Given the description of an element on the screen output the (x, y) to click on. 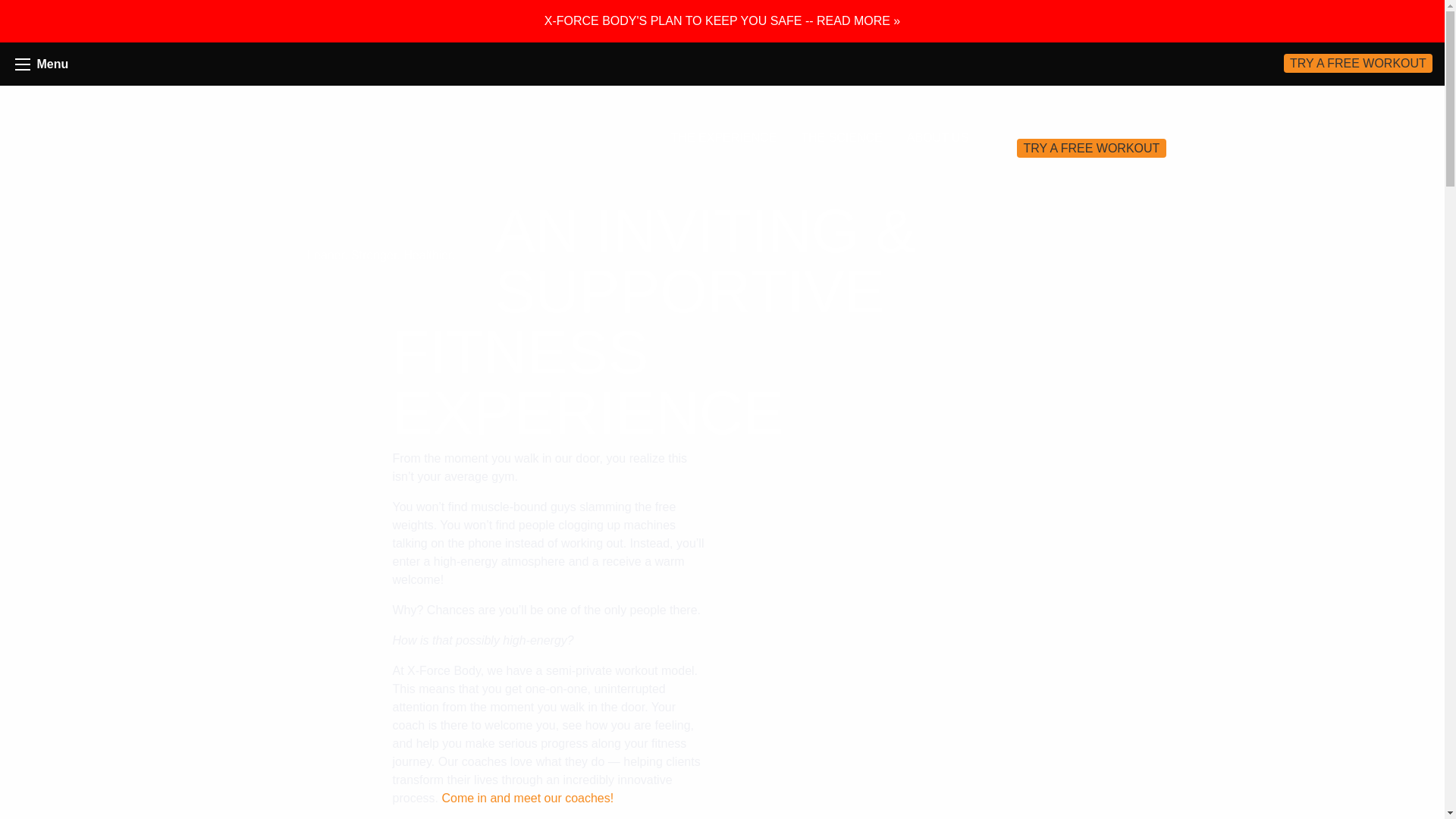
THE EXPERIENCE (724, 137)
 TRY A FREE WORKOUT  (1358, 63)
THE SCIENCE (842, 137)
 TRY A FREE WORKOUT  (1091, 148)
ABOUT US (938, 137)
Come in and meet our coaches! (526, 797)
